Given the description of an element on the screen output the (x, y) to click on. 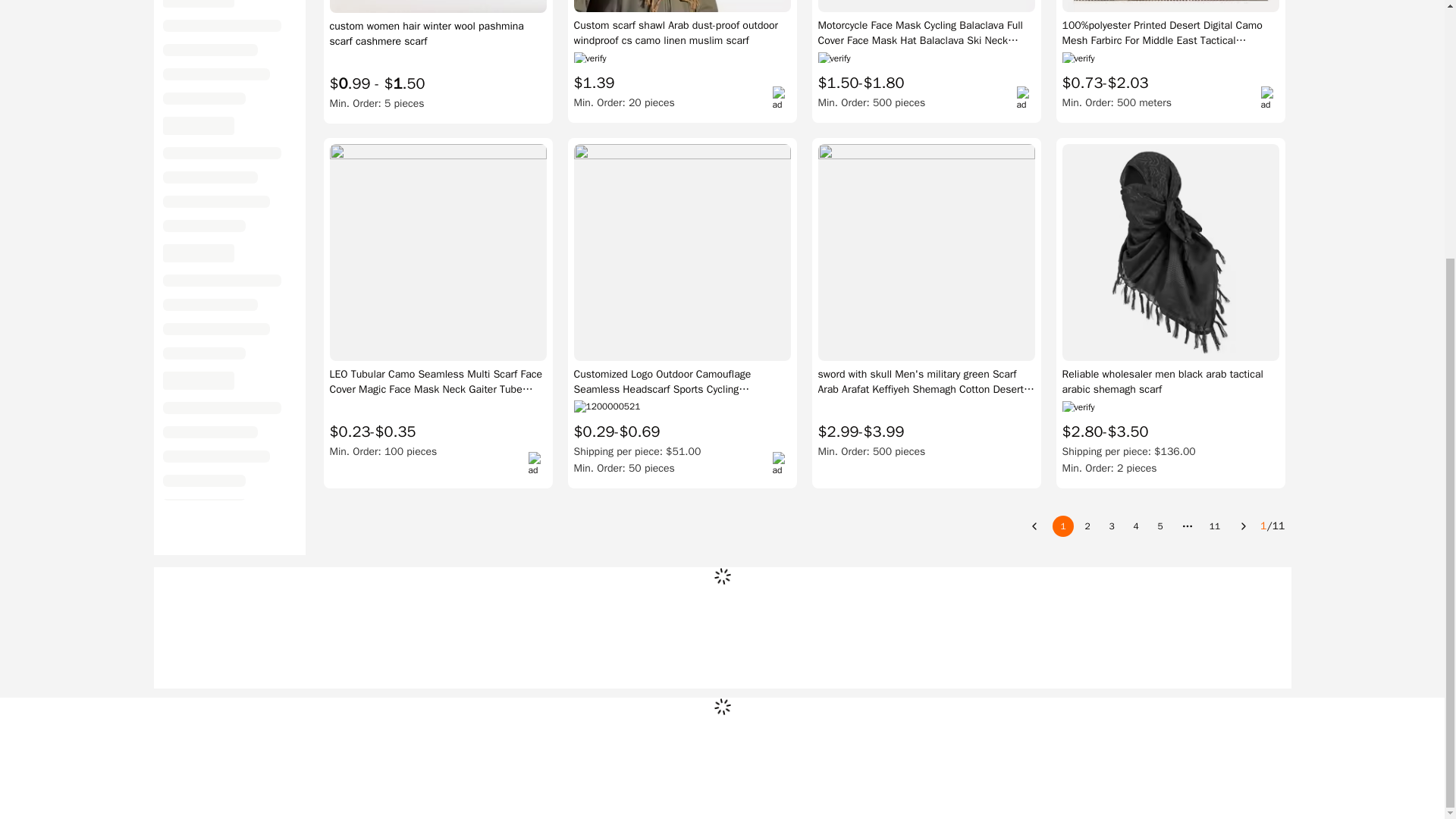
custom women hair winter wool pashmina scarf cashmere scarf (437, 33)
custom women hair winter wool pashmina scarf cashmere scarf (434, 33)
